Given the description of an element on the screen output the (x, y) to click on. 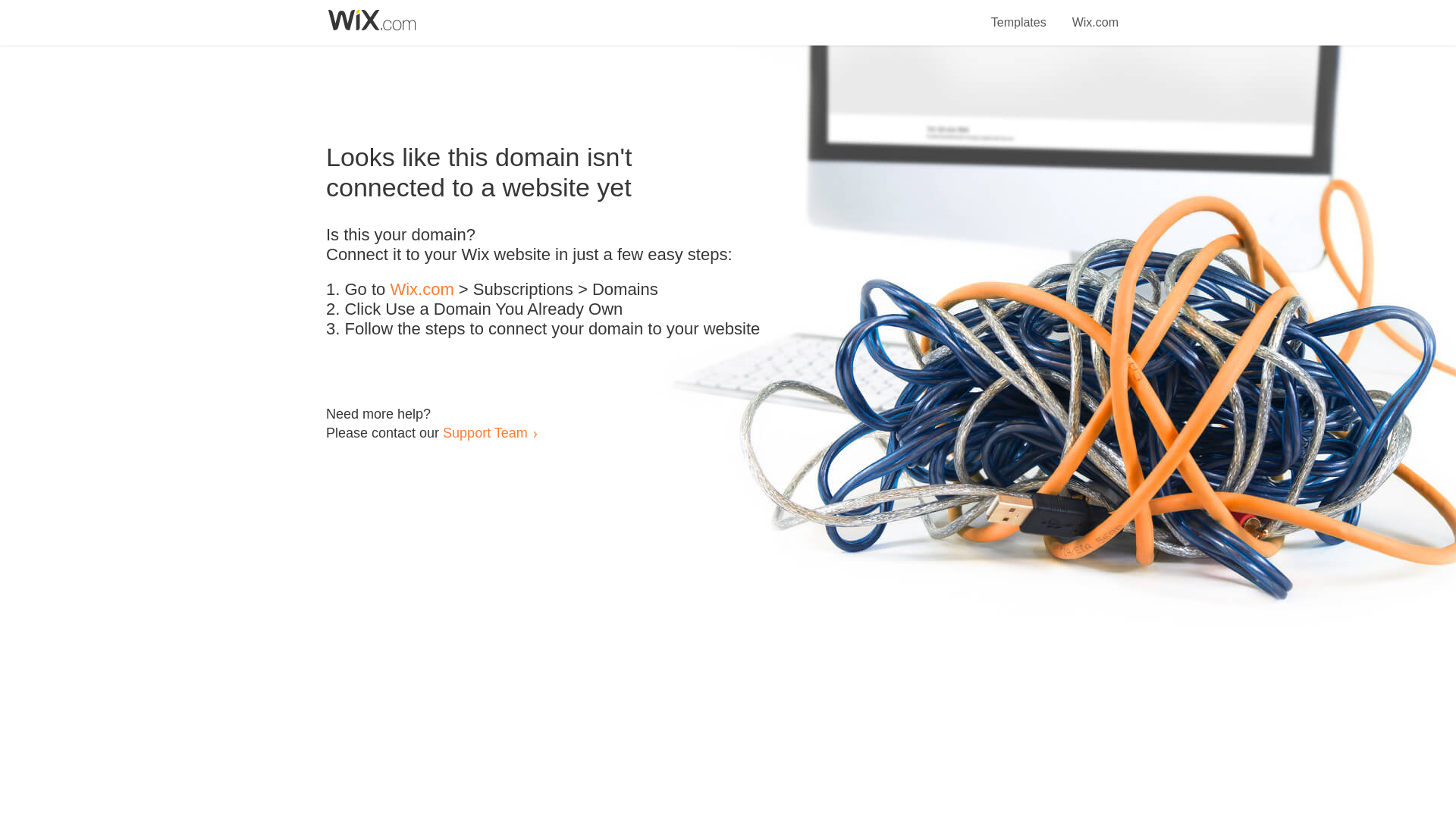
Support Team (484, 432)
Wix.com (1095, 14)
Wix.com (421, 289)
Templates (1018, 14)
